Given the description of an element on the screen output the (x, y) to click on. 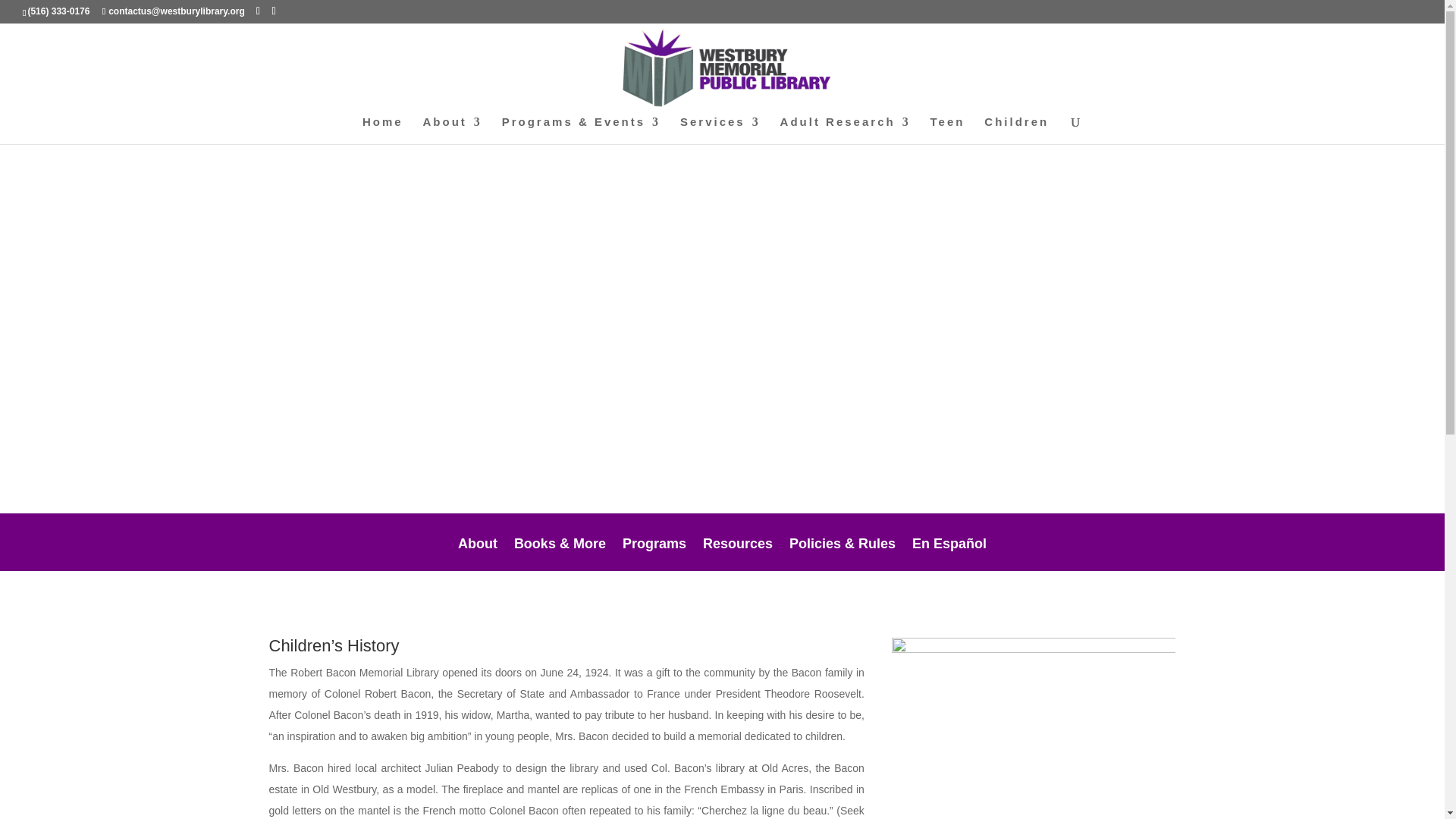
About (451, 130)
Home (382, 130)
Services (719, 130)
